Given the description of an element on the screen output the (x, y) to click on. 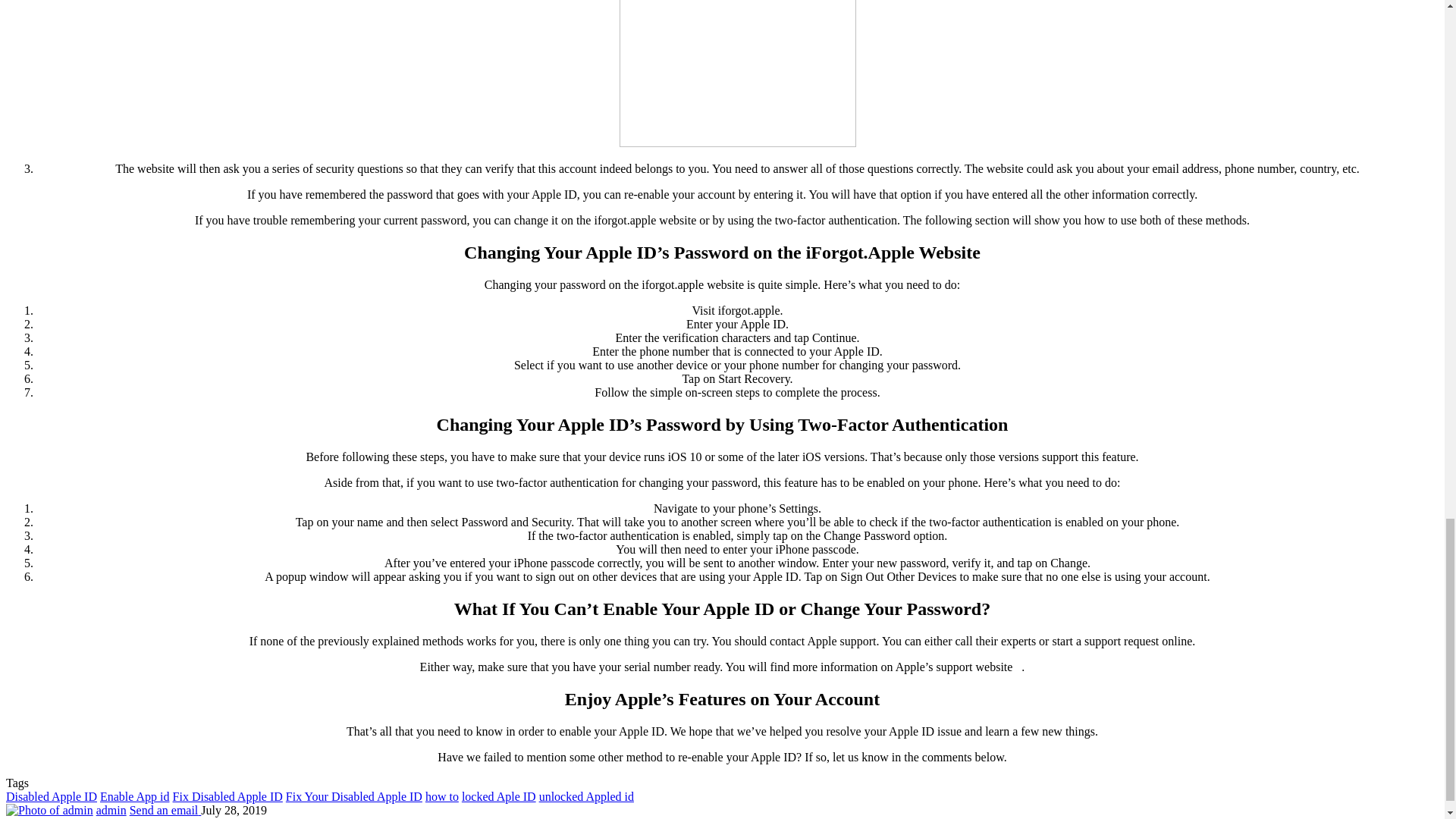
how to (441, 796)
admin (111, 809)
admin (111, 809)
Send an email (165, 809)
Fix Disabled Apple ID (227, 796)
Enable App id (135, 796)
Disabled Apple ID (51, 796)
Fix Your Disabled Apple ID (353, 796)
Send an email (165, 809)
unlocked Appled id (585, 796)
